Given the description of an element on the screen output the (x, y) to click on. 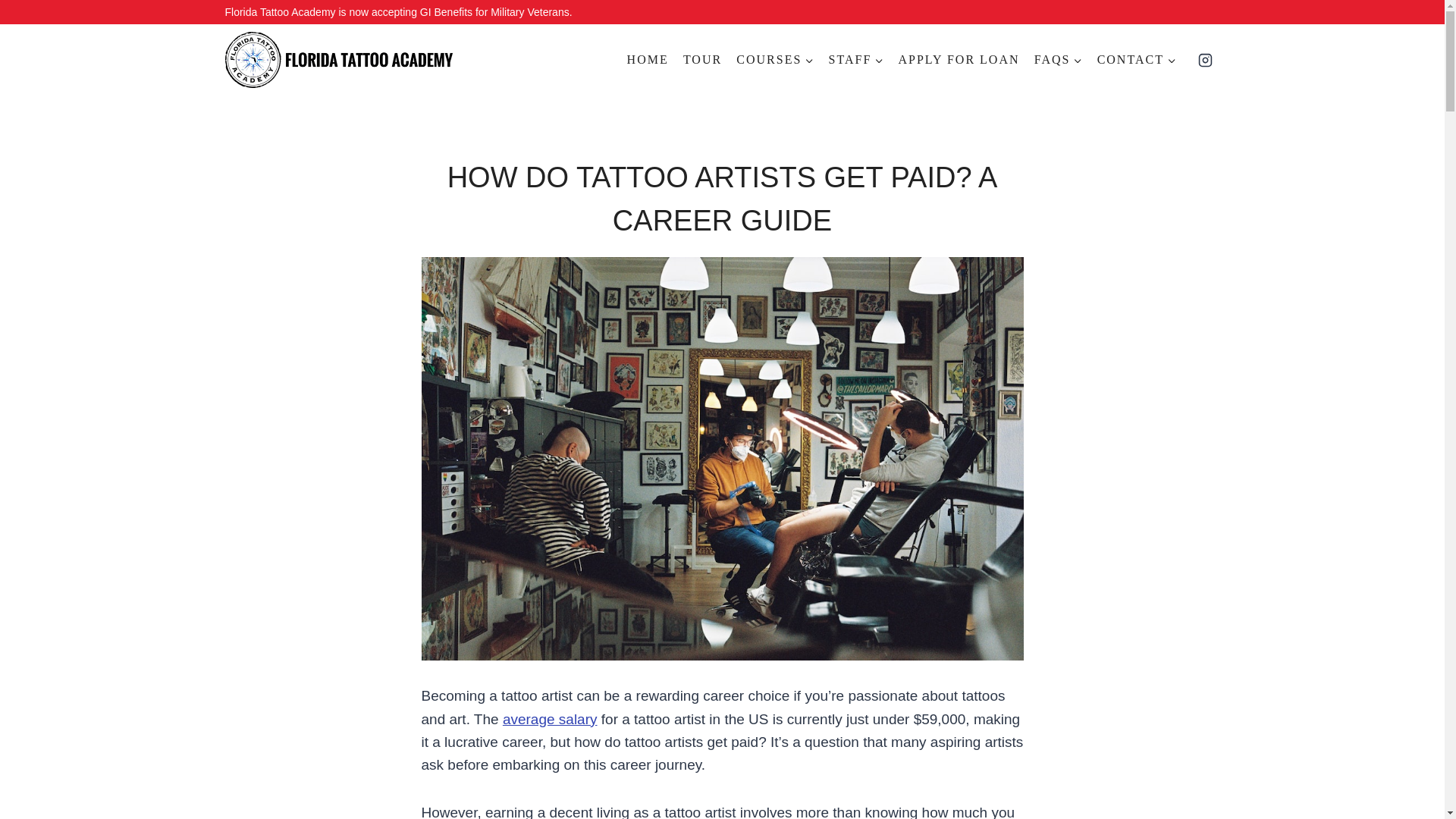
STAFF (856, 59)
APPLY FOR LOAN (958, 59)
TOUR (702, 59)
FAQS (1057, 59)
average salary (549, 719)
HOME (647, 59)
CONTACT (1135, 59)
COURSES (775, 59)
